Given the description of an element on the screen output the (x, y) to click on. 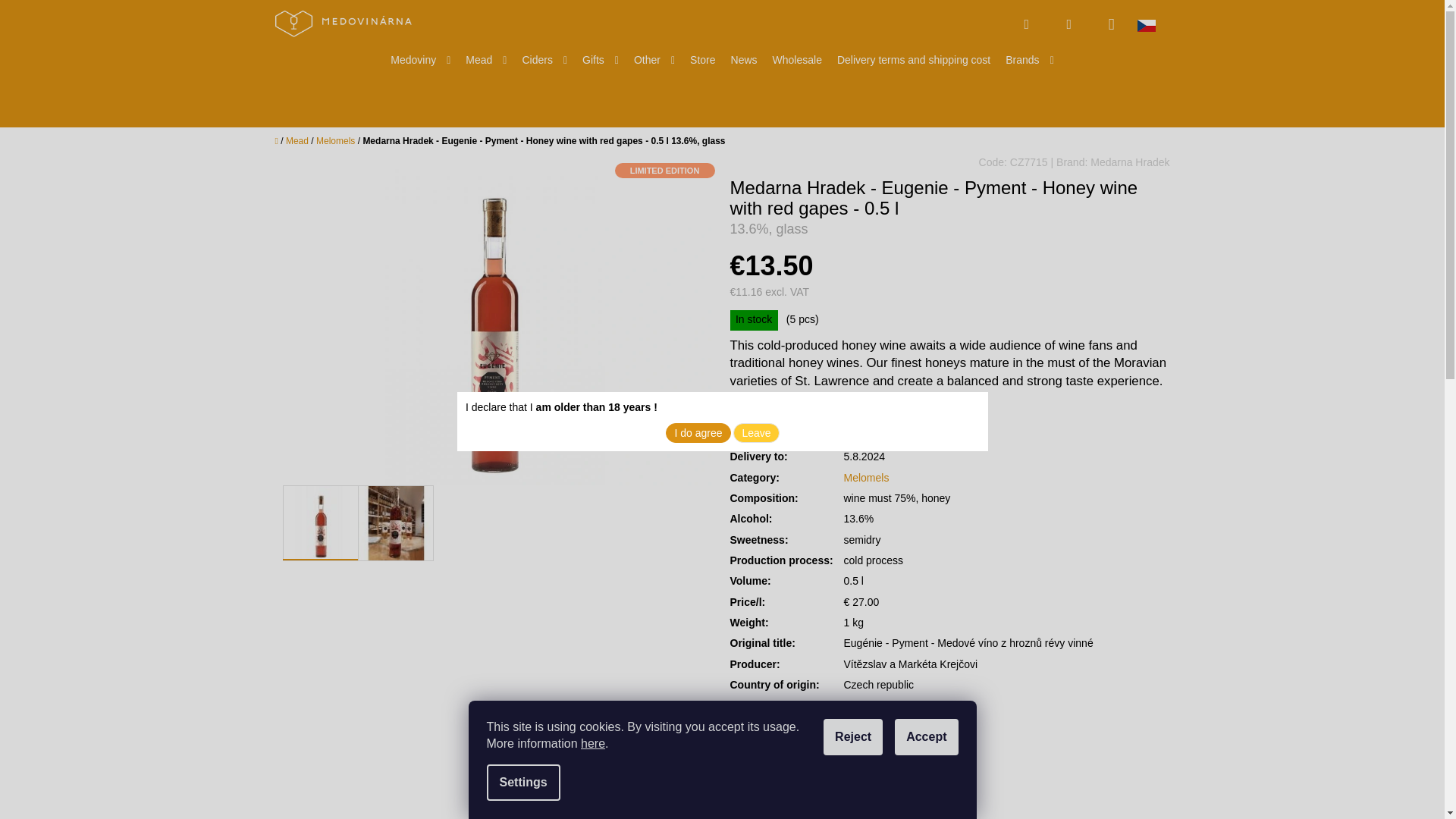
Medoviny (420, 59)
1 (763, 418)
Mead (485, 59)
Speak to a sales advisor (817, 749)
Print product (760, 749)
